Given the description of an element on the screen output the (x, y) to click on. 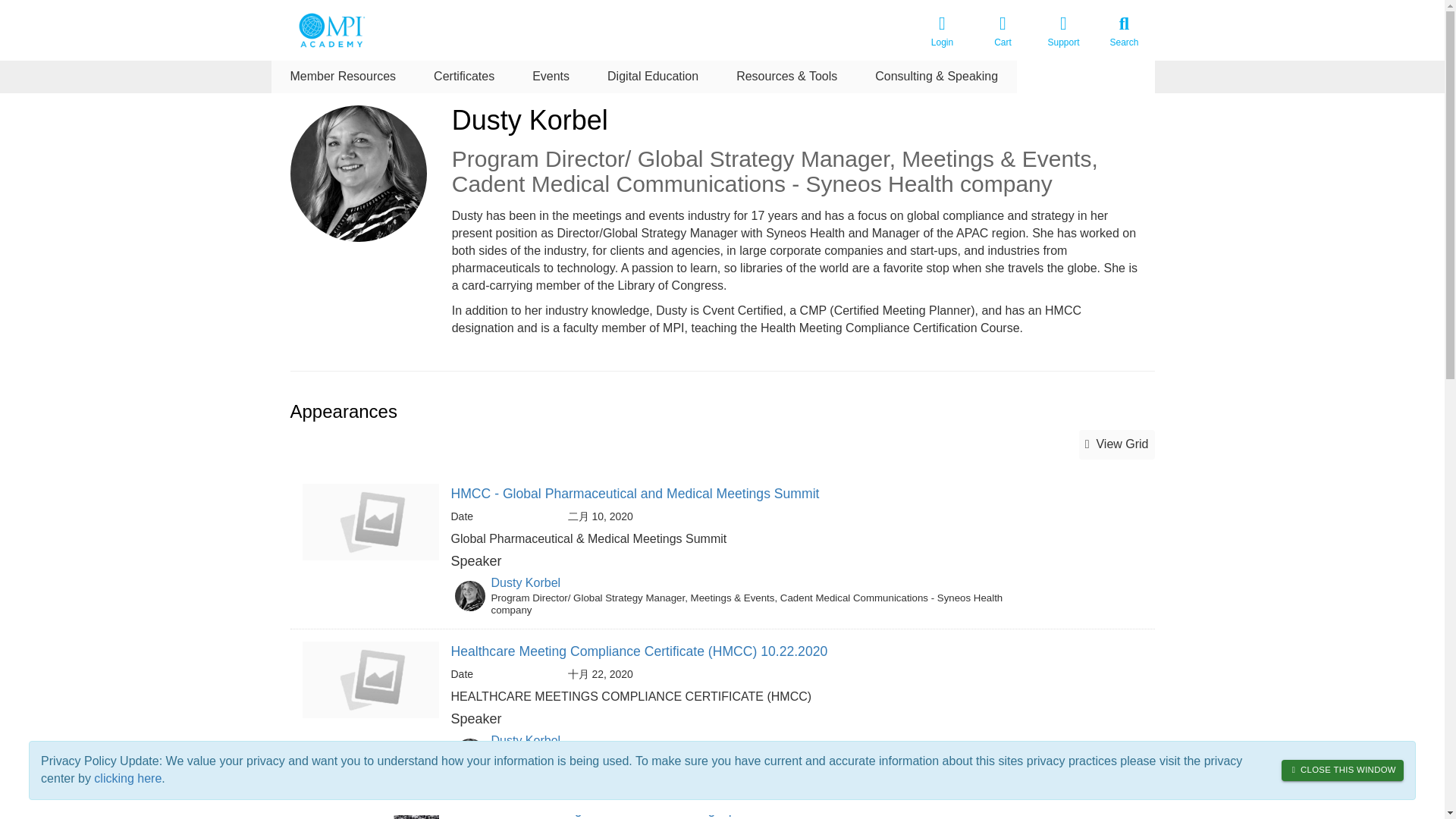
Dusty Korbel (526, 582)
Search (1123, 30)
Cart (1002, 30)
Events (550, 76)
  View Grid (1116, 444)
Login (941, 30)
Search (1123, 30)
MPI MD: Live Meetings: More Than Showing Up (592, 808)
Dusty Korbel (526, 739)
Member Resources (342, 76)
Digital Education (652, 76)
Support (1062, 30)
Login (941, 30)
Support (1062, 30)
Cart (1002, 30)
